Given the description of an element on the screen output the (x, y) to click on. 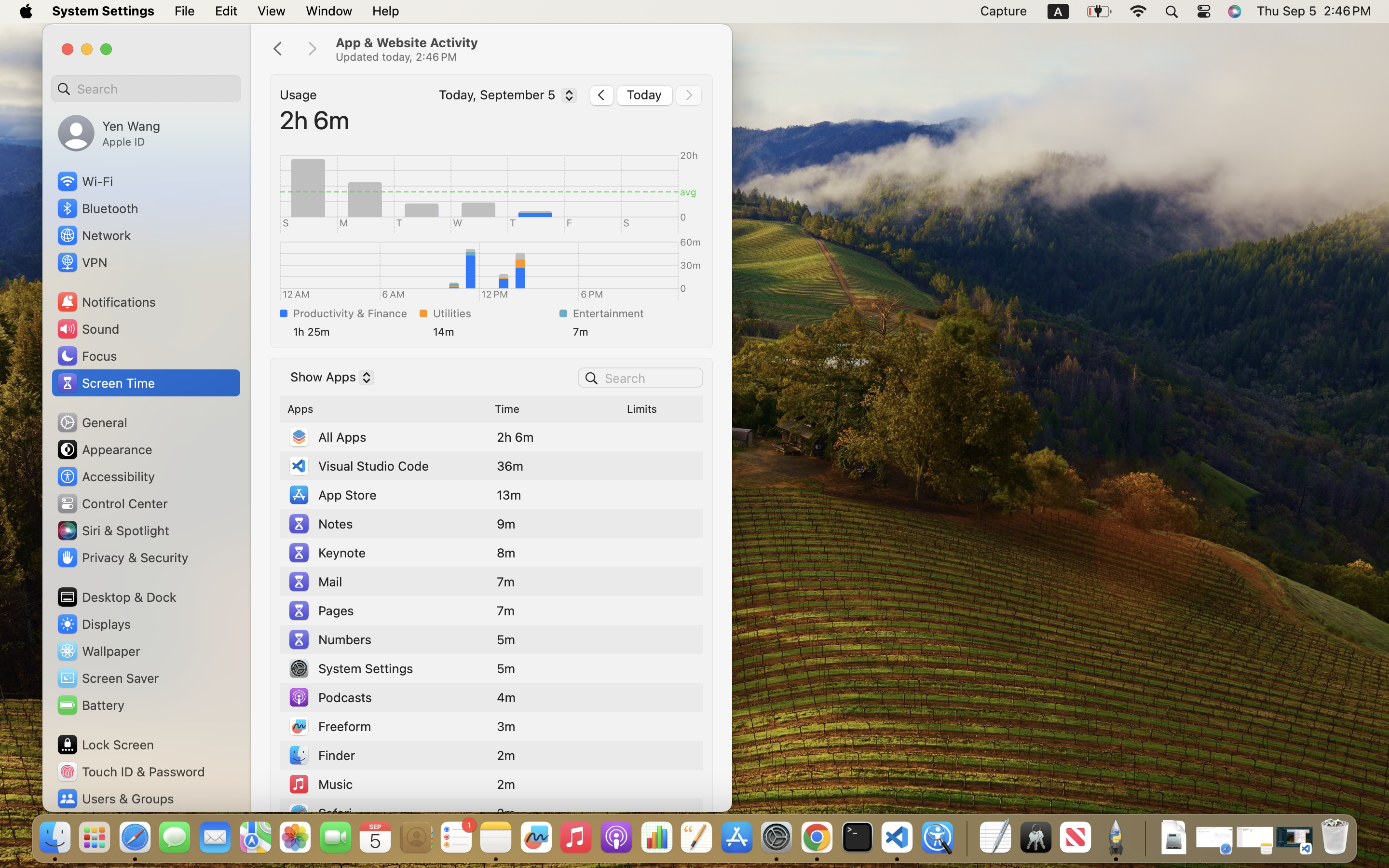
Wallpaper Element type: AXStaticText (97, 650)
Accessibility Element type: AXStaticText (105, 476)
Notifications Element type: AXStaticText (105, 301)
Numbers Element type: AXStaticText (329, 639)
Displays Element type: AXStaticText (93, 623)
